Given the description of an element on the screen output the (x, y) to click on. 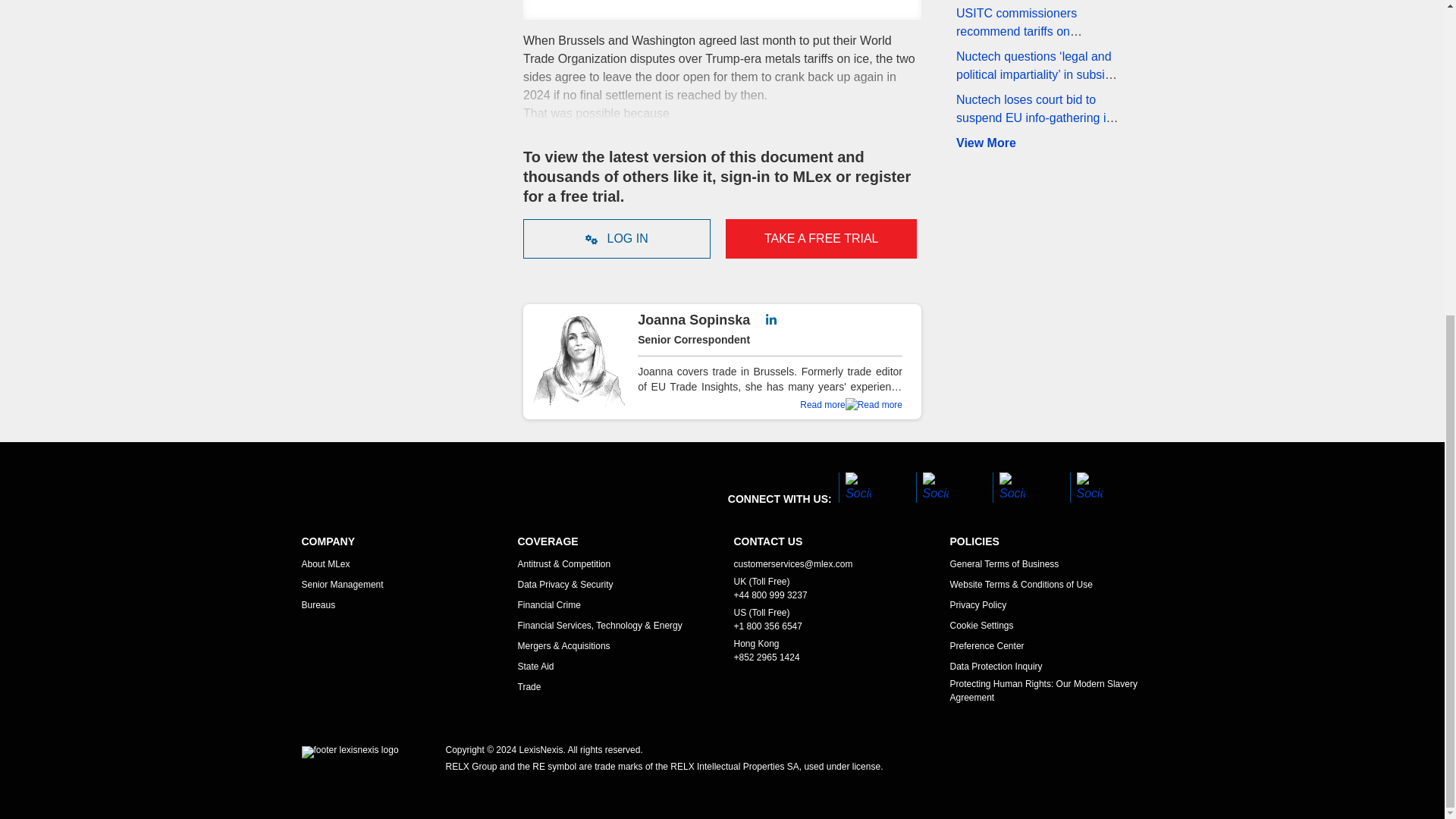
TAKE A FREE TRIAL (821, 238)
Find us on Facebook (854, 487)
Find us on Vimeo (1008, 487)
LOG IN (616, 238)
Find us on LinkedIn (1085, 487)
